Given the description of an element on the screen output the (x, y) to click on. 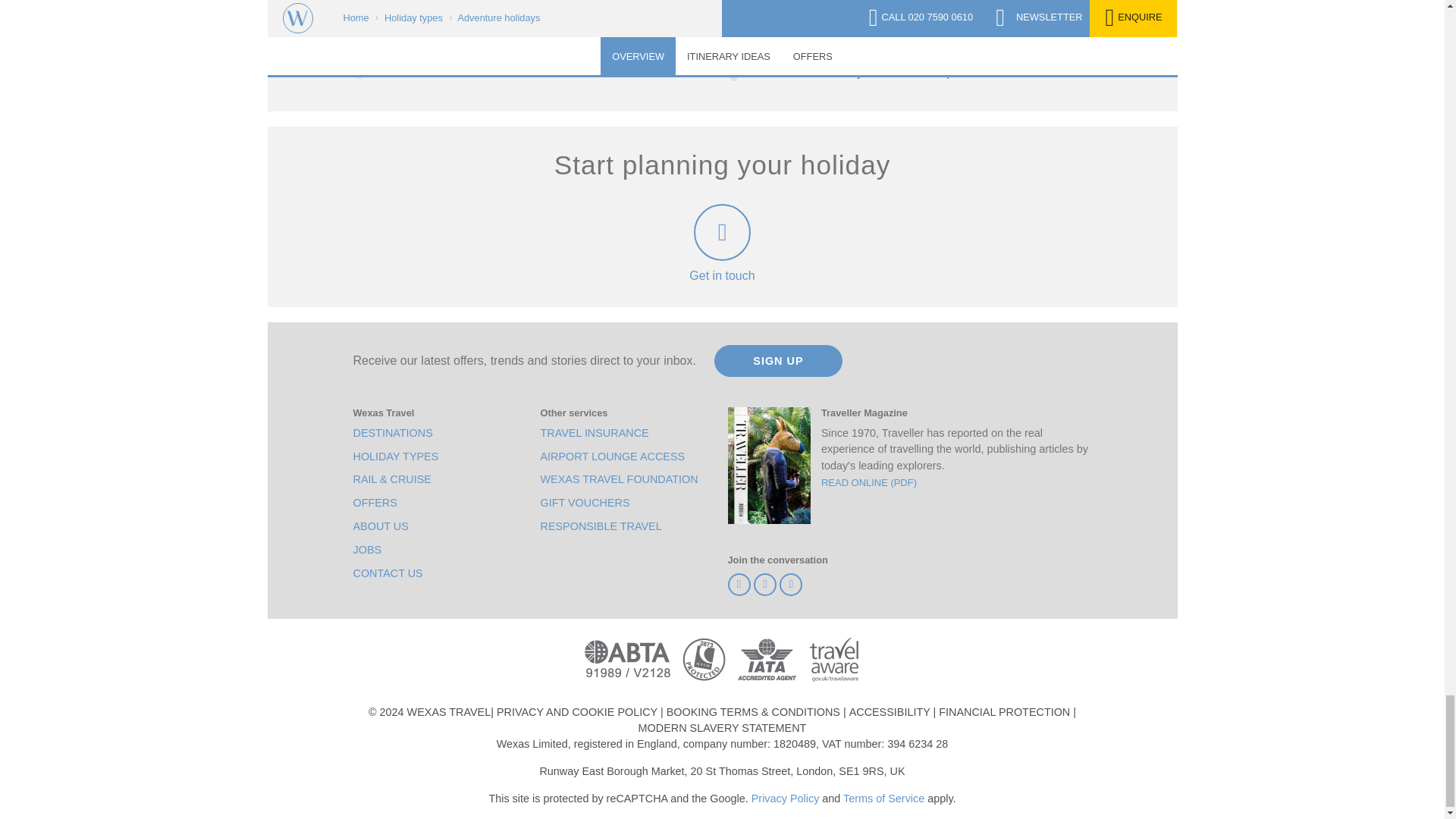
Travel Insurance (593, 433)
Gift Vouchers (584, 503)
Holiday Types (396, 456)
Wexas Travel Foundation (618, 479)
Airport Lounge Access (612, 456)
Destinations (392, 433)
Jobs (367, 549)
Responsible Travel (600, 526)
About us (381, 526)
Offers (375, 503)
